Given the description of an element on the screen output the (x, y) to click on. 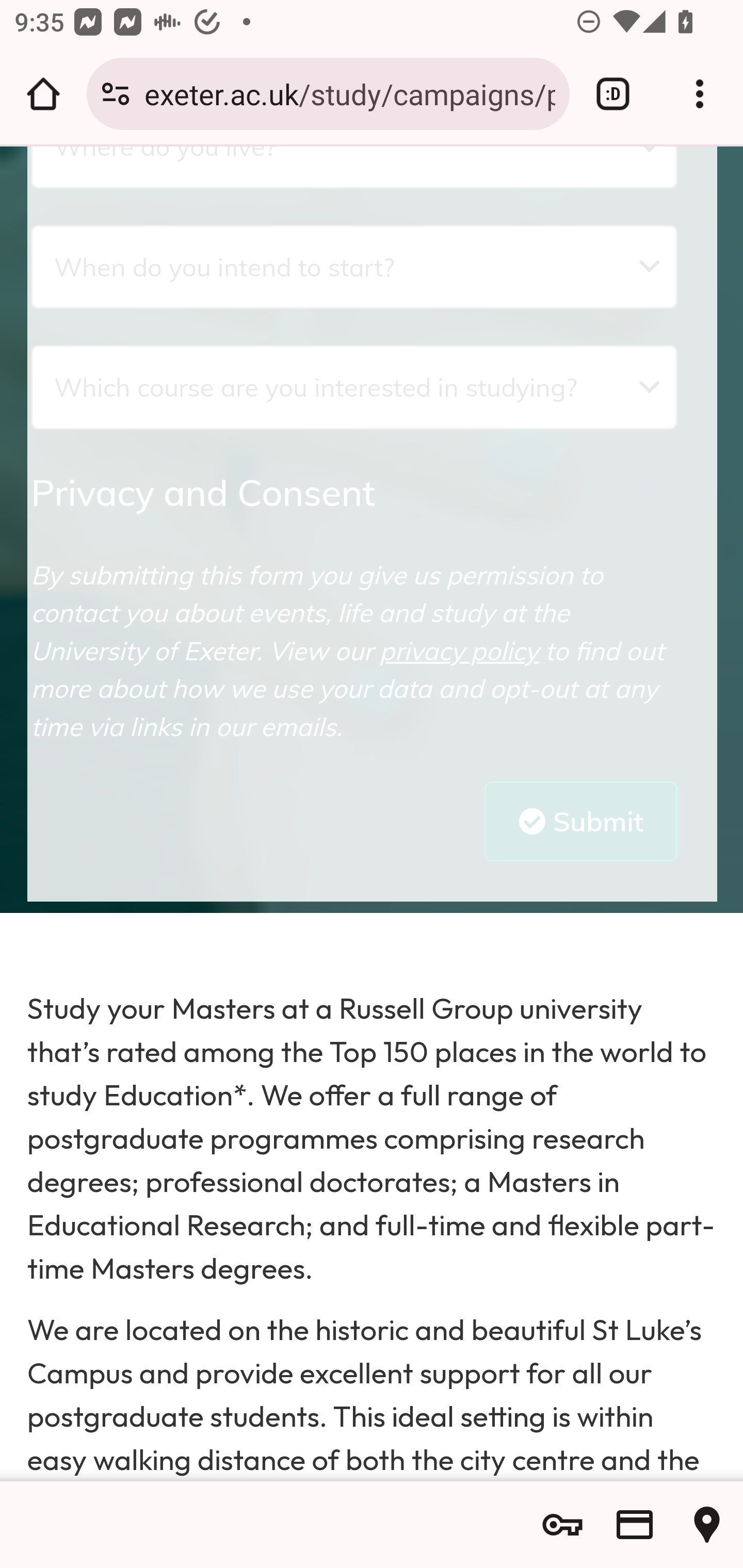
Open the home page (43, 93)
Connection is secure (115, 93)
Switch or close tabs (612, 93)
Customize and control Google Chrome (699, 93)
When do you intend to start? (353, 267)
Which course are you interested in studying? (353, 386)
Link privacy policy privacy policy (458, 650)
Submit (581, 820)
Show saved passwords and password options (562, 1524)
Show saved payment methods (634, 1524)
Show saved addresses (706, 1524)
